Given the description of an element on the screen output the (x, y) to click on. 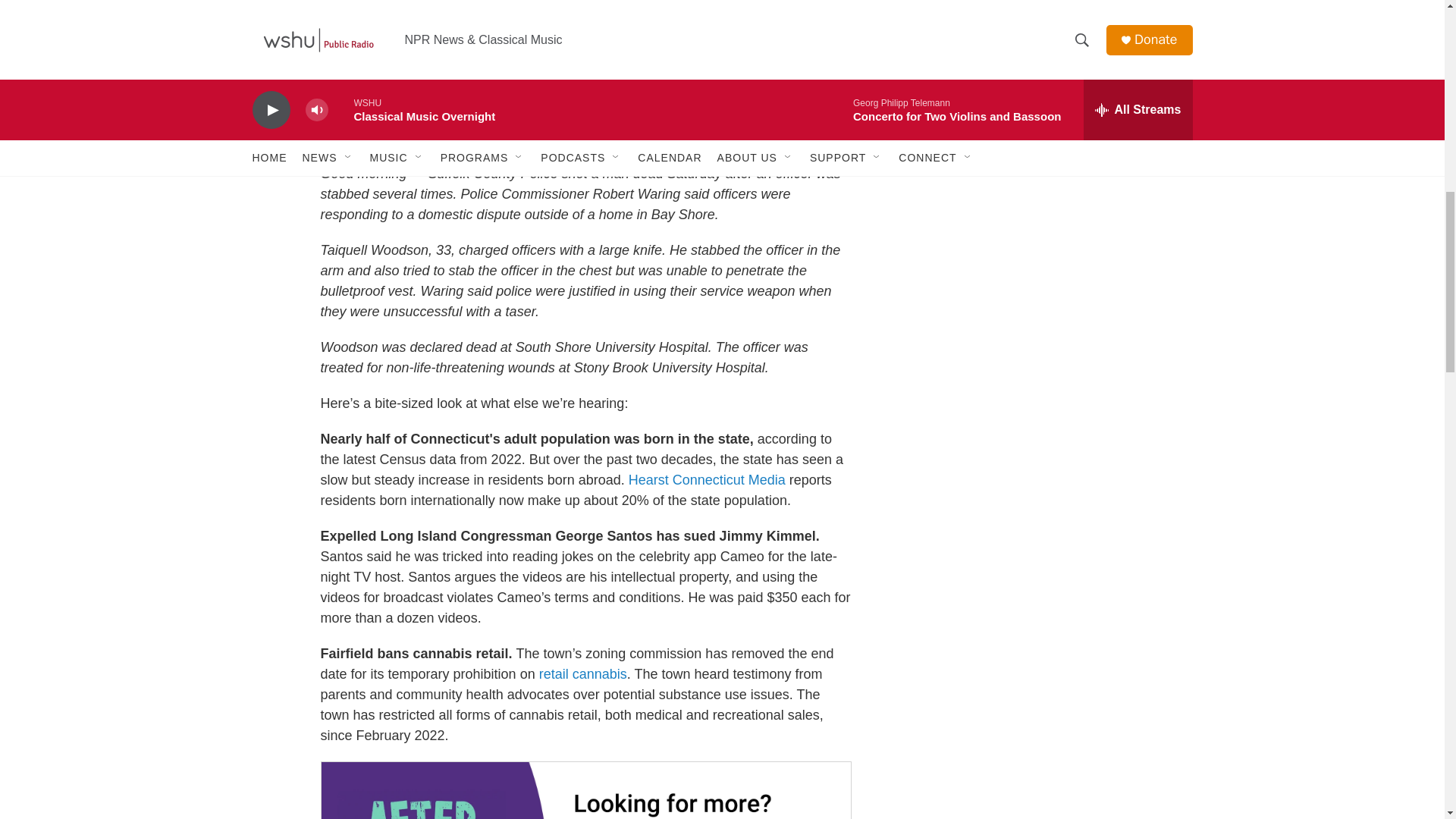
3rd party ad content (1062, 16)
